Given the description of an element on the screen output the (x, y) to click on. 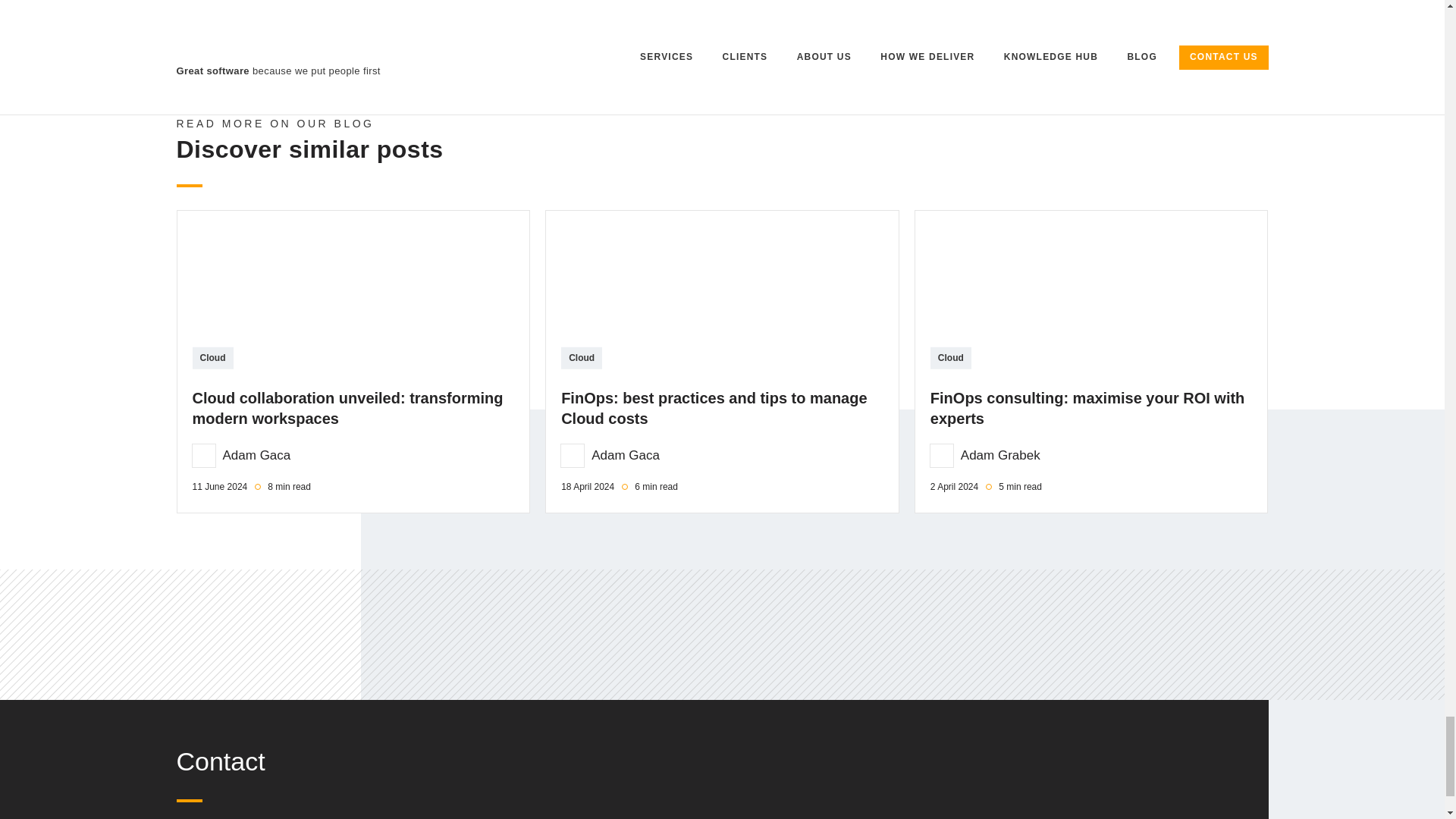
FinOps: best practices and tips to manage Cloud costs (721, 283)
FinOps consulting: maximise your ROI with experts (1091, 283)
Cloud collaboration unveiled: transforming modern workspaces (352, 283)
